Given the description of an element on the screen output the (x, y) to click on. 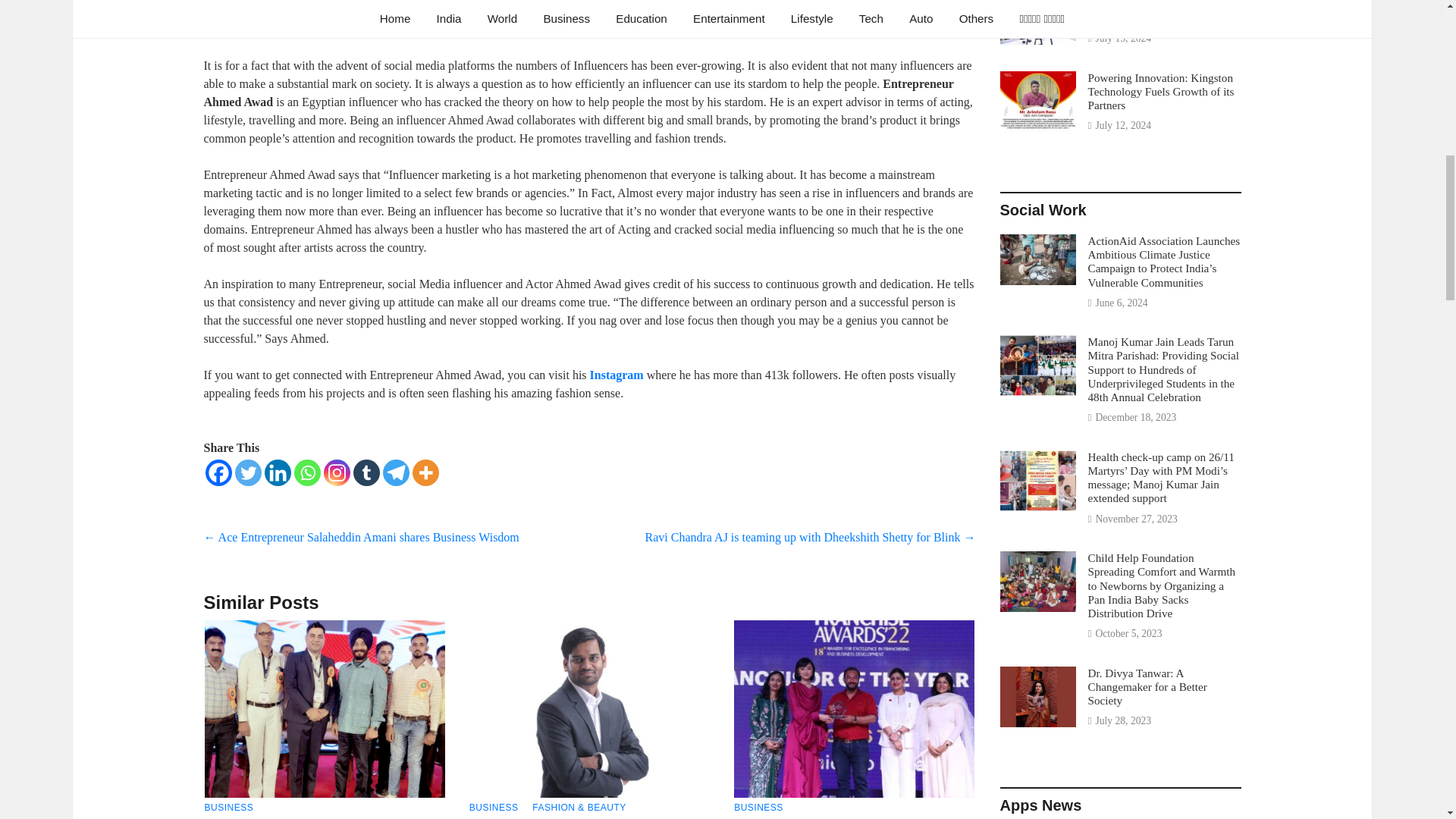
Instagram (336, 23)
Twitter (248, 472)
Linkedin (276, 472)
Facebook (218, 472)
Twitter (248, 23)
Whatsapp (307, 23)
More (425, 23)
Linkedin (276, 23)
Facebook (218, 23)
Telegram (395, 23)
Tumblr (366, 23)
